Given the description of an element on the screen output the (x, y) to click on. 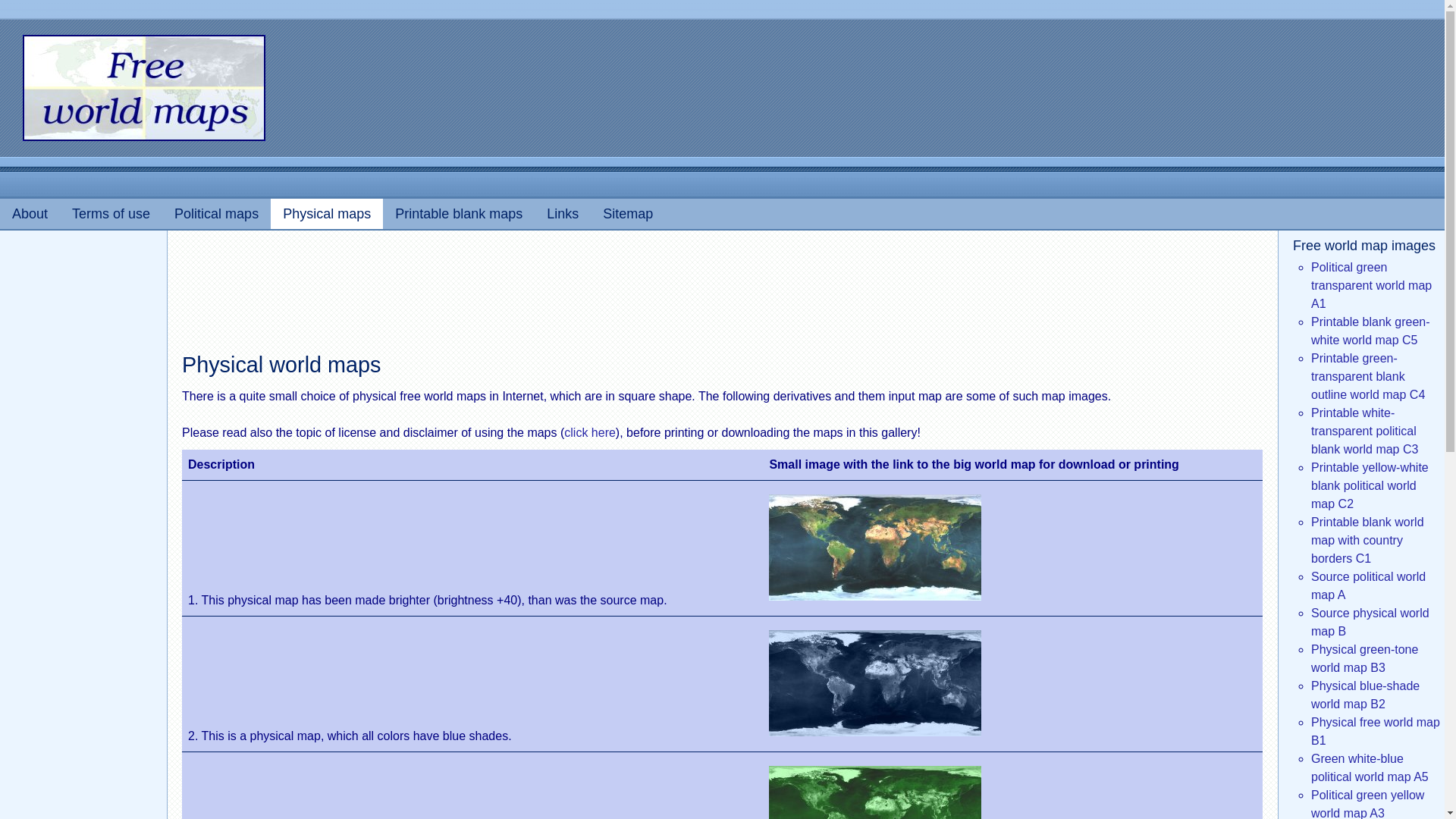
Source physical world map B (1370, 622)
Printable yellow-white blank political world map C2 (1369, 485)
Printable blank maps (458, 214)
Political green yellow world map A3 (1367, 803)
Printable blank green-white world map C5 (1370, 330)
Physical green-tone world map B3 (1364, 658)
Printable green-transparent blank outline world map C4 (1368, 376)
Physical free world map B1 (1375, 730)
About (29, 214)
Green white-blue political world map A5 (1369, 767)
